Given the description of an element on the screen output the (x, y) to click on. 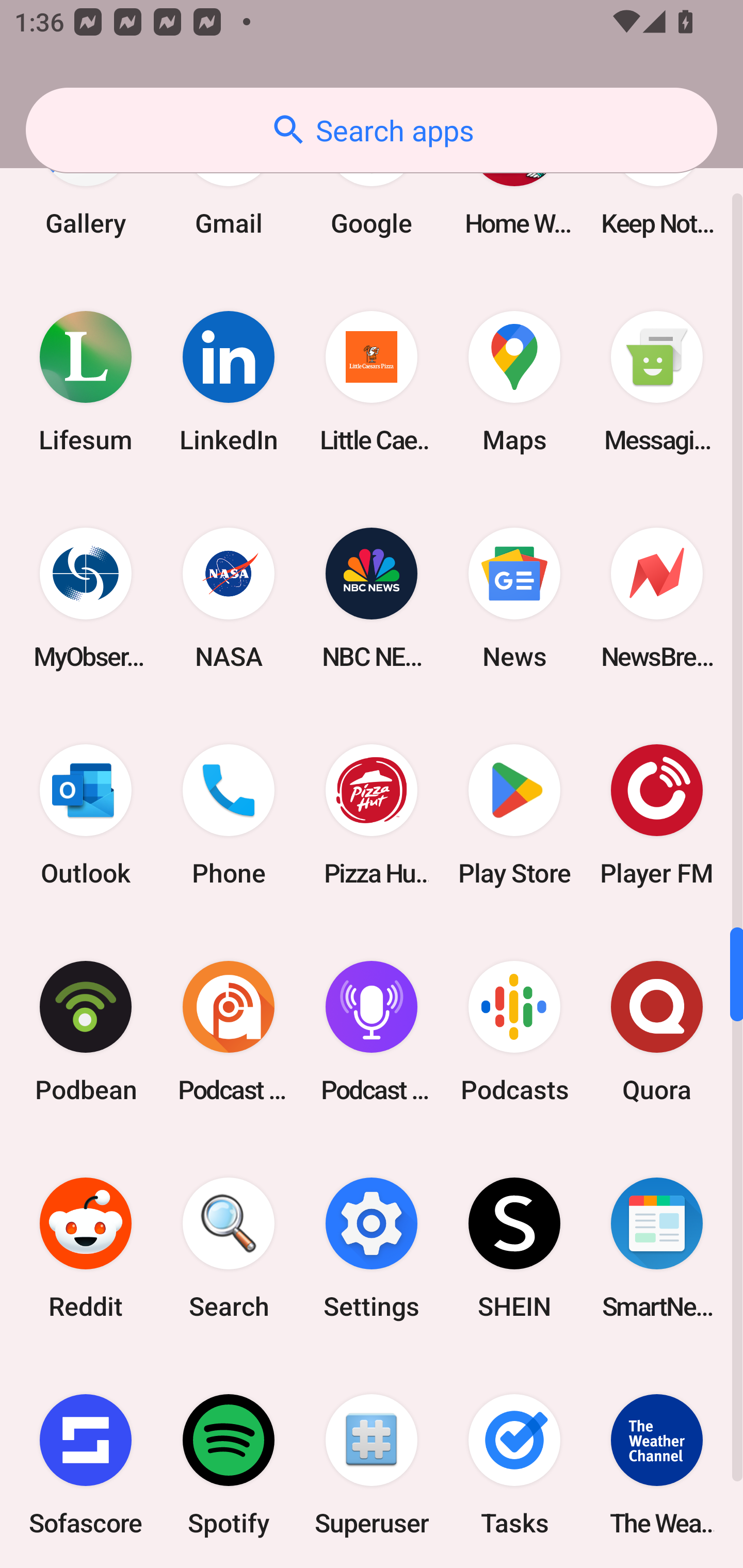
  Search apps (371, 130)
Lifesum (85, 380)
LinkedIn (228, 380)
Little Caesars Pizza (371, 380)
Maps (514, 380)
Messaging (656, 380)
MyObservatory (85, 598)
NASA (228, 598)
NBC NEWS (371, 598)
News (514, 598)
NewsBreak (656, 598)
Outlook (85, 815)
Phone (228, 815)
Pizza Hut HK & Macau (371, 815)
Play Store (514, 815)
Player FM (656, 815)
Podbean (85, 1031)
Podcast Addict (228, 1031)
Podcast Player (371, 1031)
Podcasts (514, 1031)
Quora (656, 1031)
Reddit (85, 1247)
Search (228, 1247)
Settings (371, 1247)
SHEIN (514, 1247)
SmartNews (656, 1247)
Sofascore (85, 1462)
Spotify (228, 1462)
Superuser (371, 1462)
Tasks (514, 1462)
The Weather Channel (656, 1462)
